Given the description of an element on the screen output the (x, y) to click on. 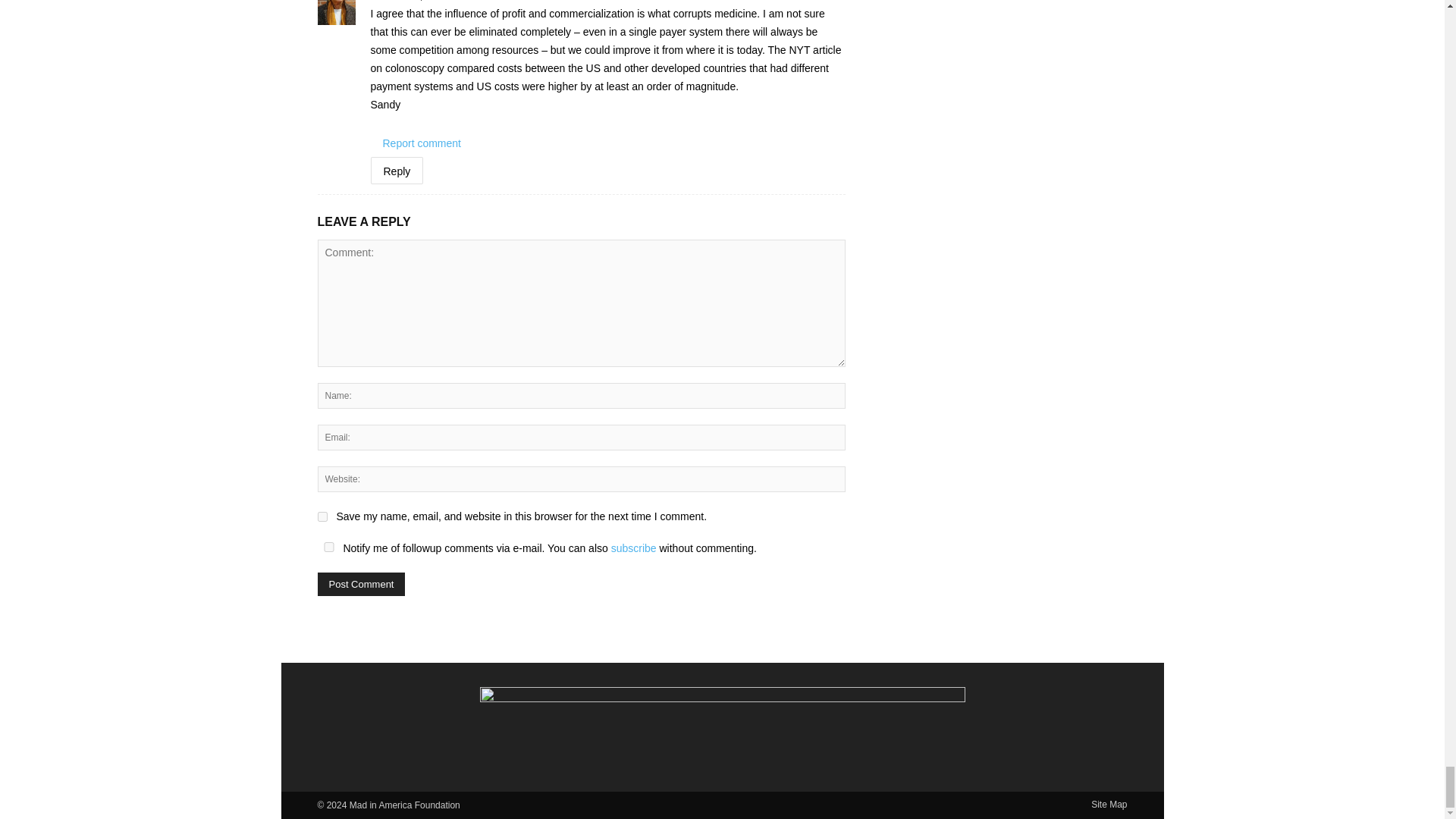
yes (328, 547)
yes (321, 516)
Post Comment (360, 584)
